Given the description of an element on the screen output the (x, y) to click on. 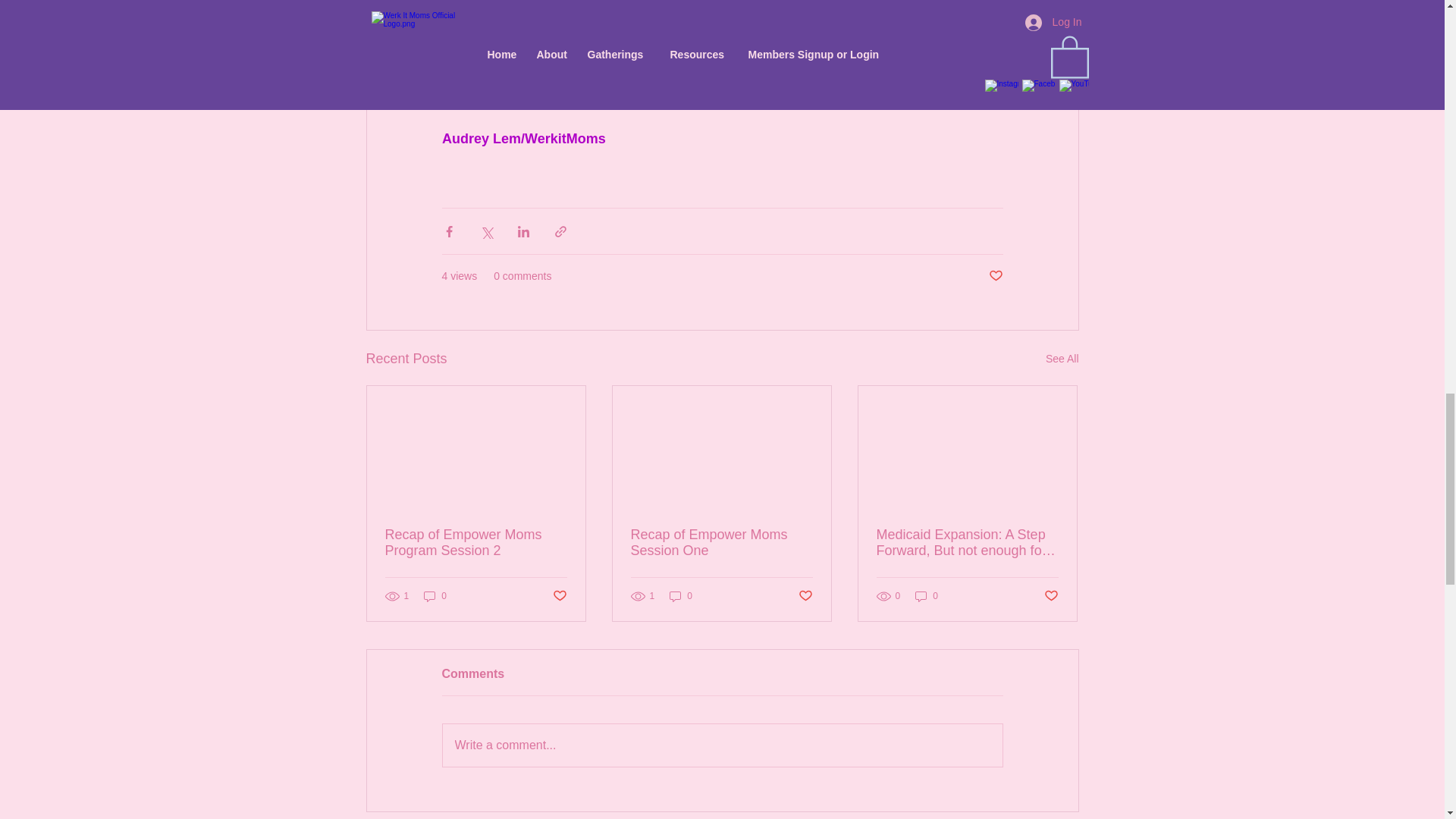
Post not marked as liked (995, 276)
0 (435, 595)
See All (1061, 359)
Recap of Empower Moms Program Session 2 (476, 542)
